Given the description of an element on the screen output the (x, y) to click on. 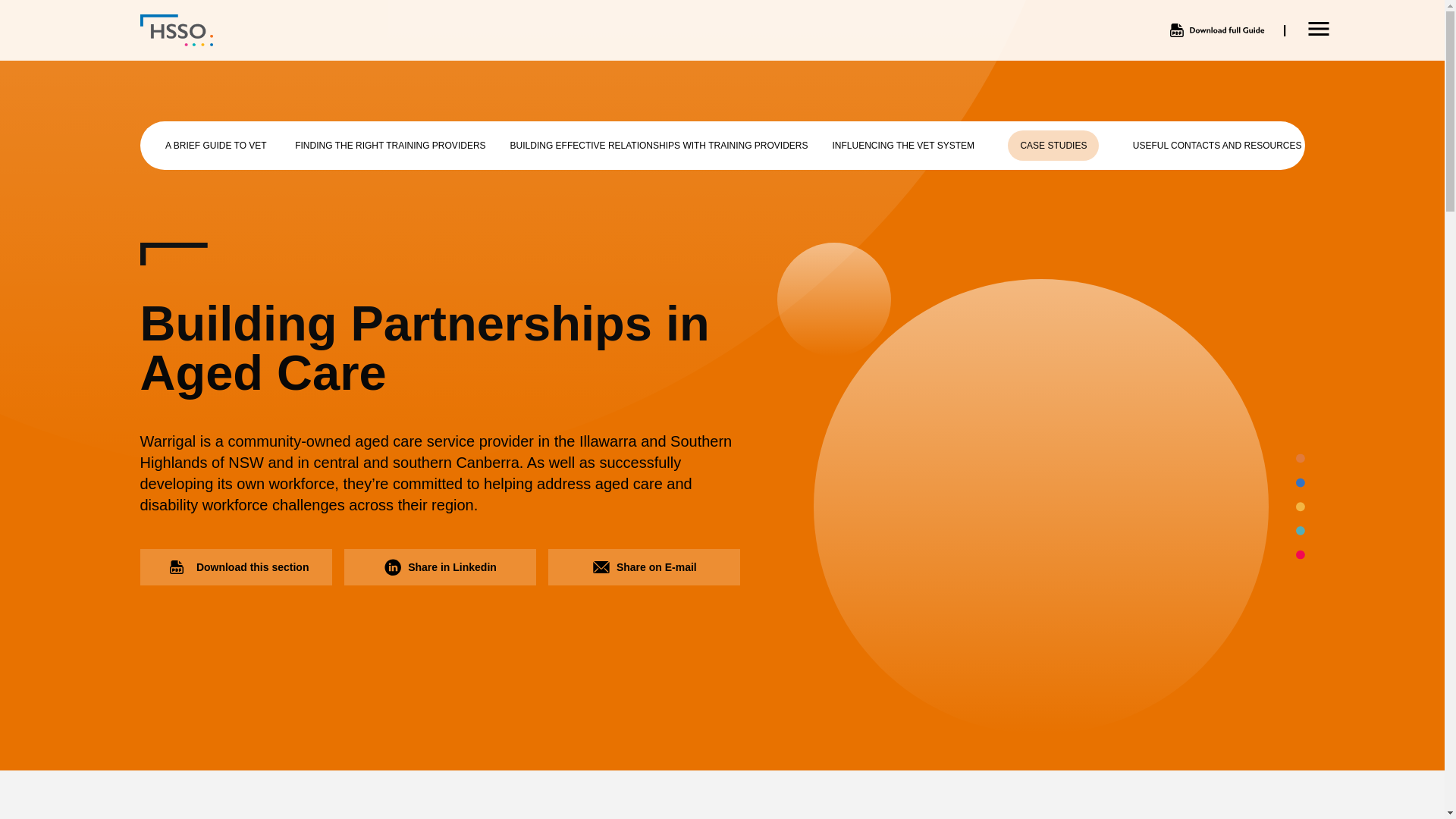
USEFUL CONTACTS AND RESOURCES (1217, 145)
INFLUENCING THE VET SYSTEM (904, 145)
BUILDING EFFECTIVE RELATIONSHIPS WITH TRAINING PROVIDERS (659, 145)
A BRIEF GUIDE TO VET (215, 145)
FINDING THE RIGHT TRAINING PROVIDERS (389, 145)
CASE STUDIES (1053, 145)
